Given the description of an element on the screen output the (x, y) to click on. 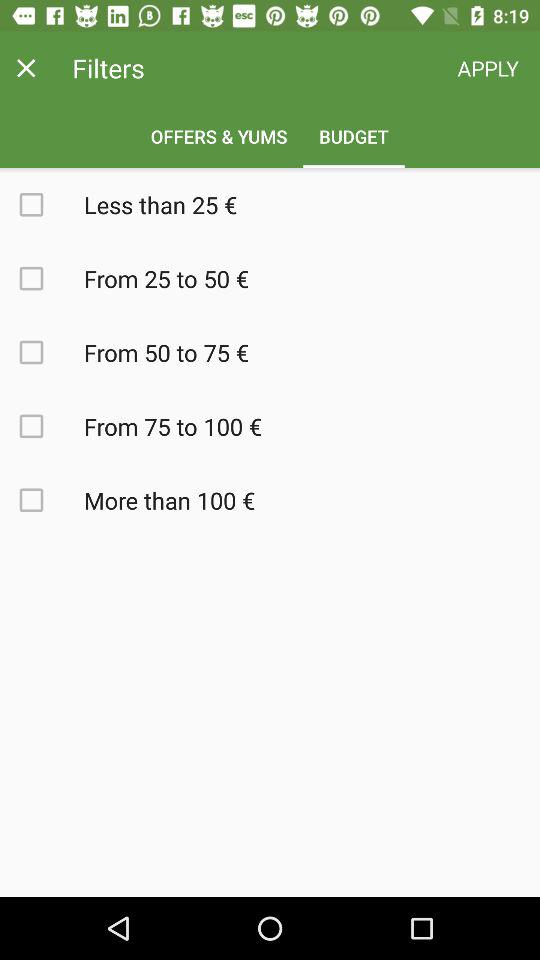
select option (41, 204)
